Given the description of an element on the screen output the (x, y) to click on. 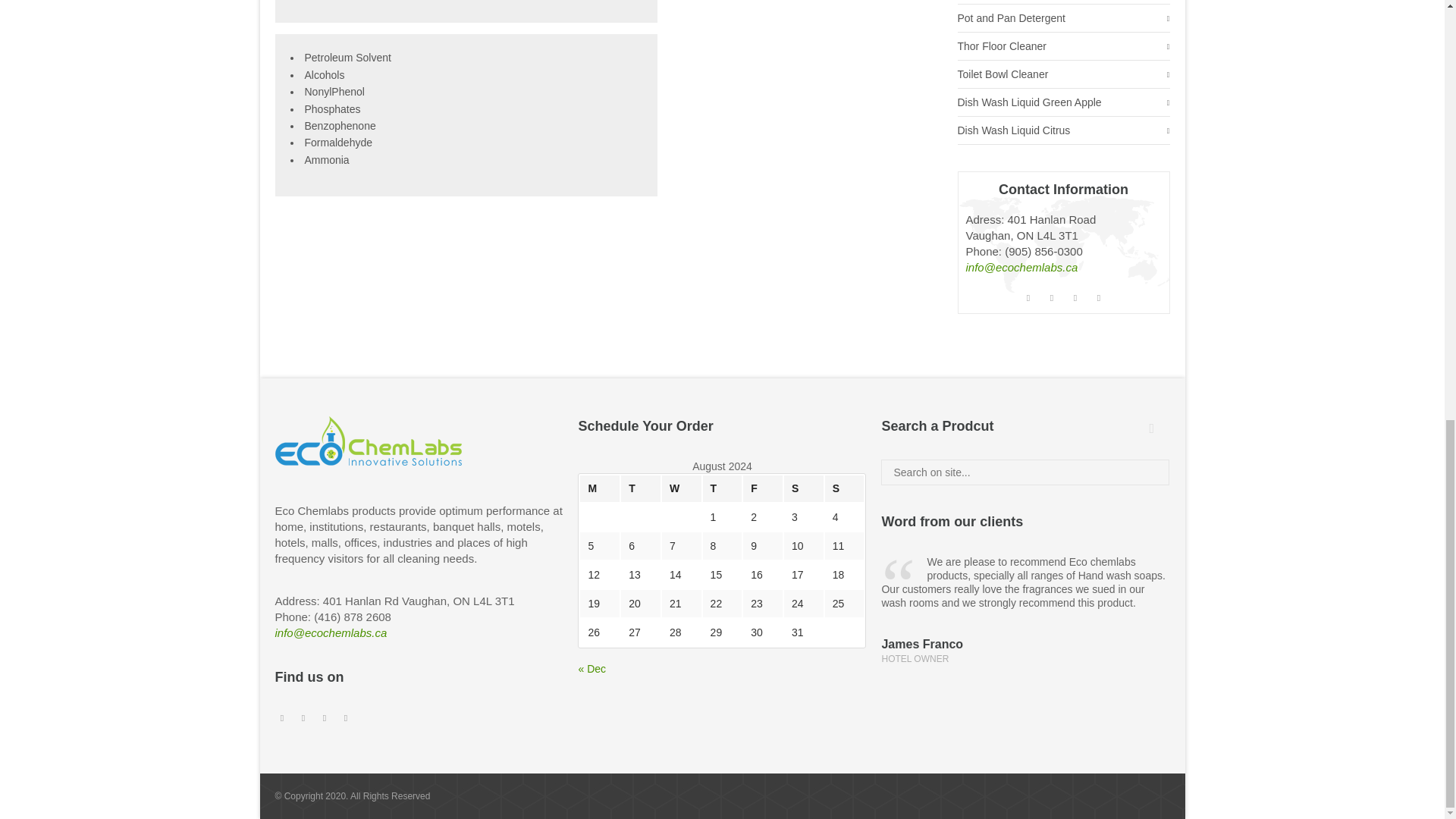
Monday (599, 488)
Friday (762, 488)
Tuesday (641, 488)
Thursday (722, 488)
Saturday (804, 488)
Sunday (844, 488)
Wednesday (681, 488)
